Given the description of an element on the screen output the (x, y) to click on. 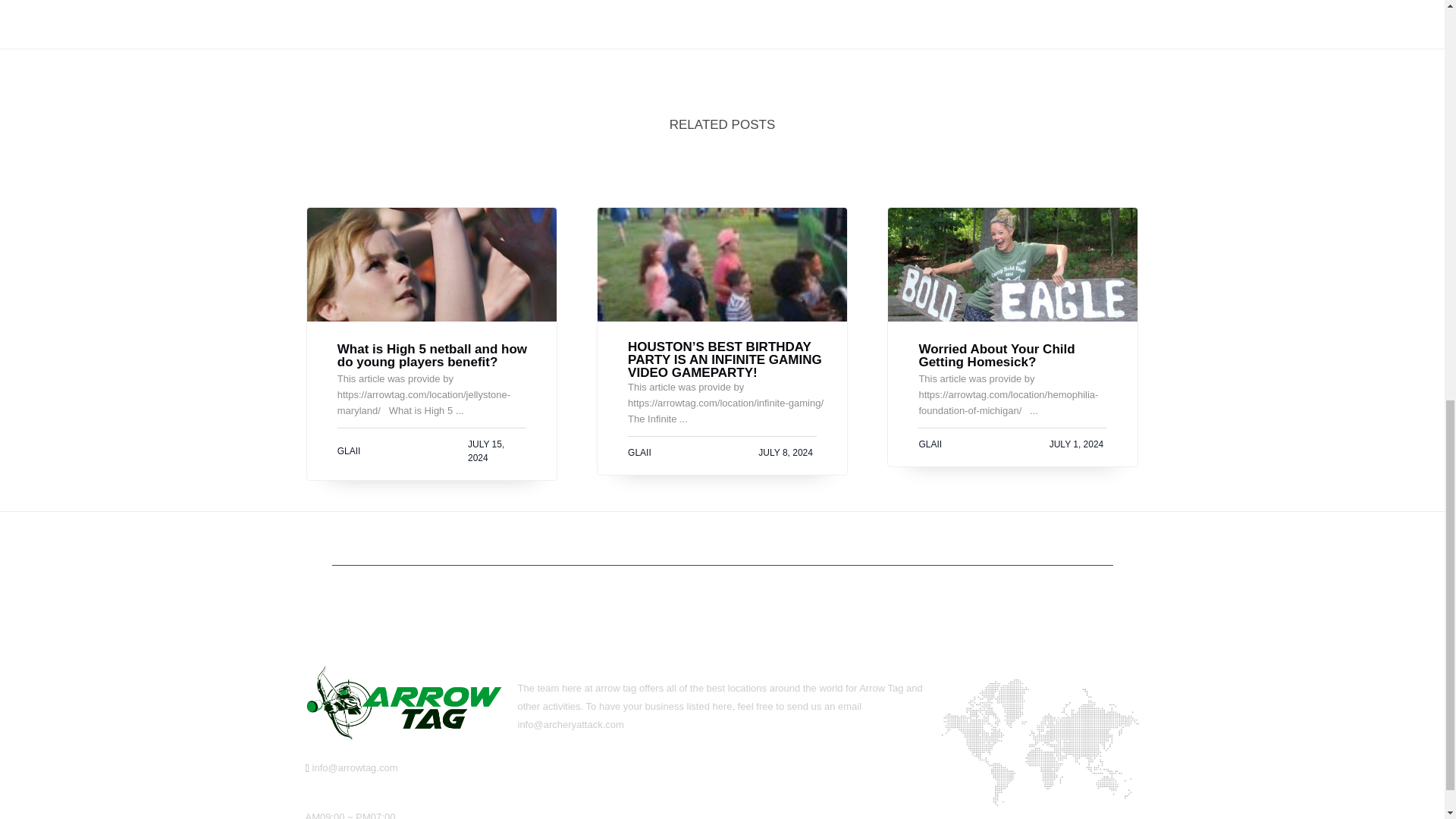
Worried About Your Child Getting Homesick? (1020, 355)
What is High 5 netball and how do young players benefit? (439, 355)
